Given the description of an element on the screen output the (x, y) to click on. 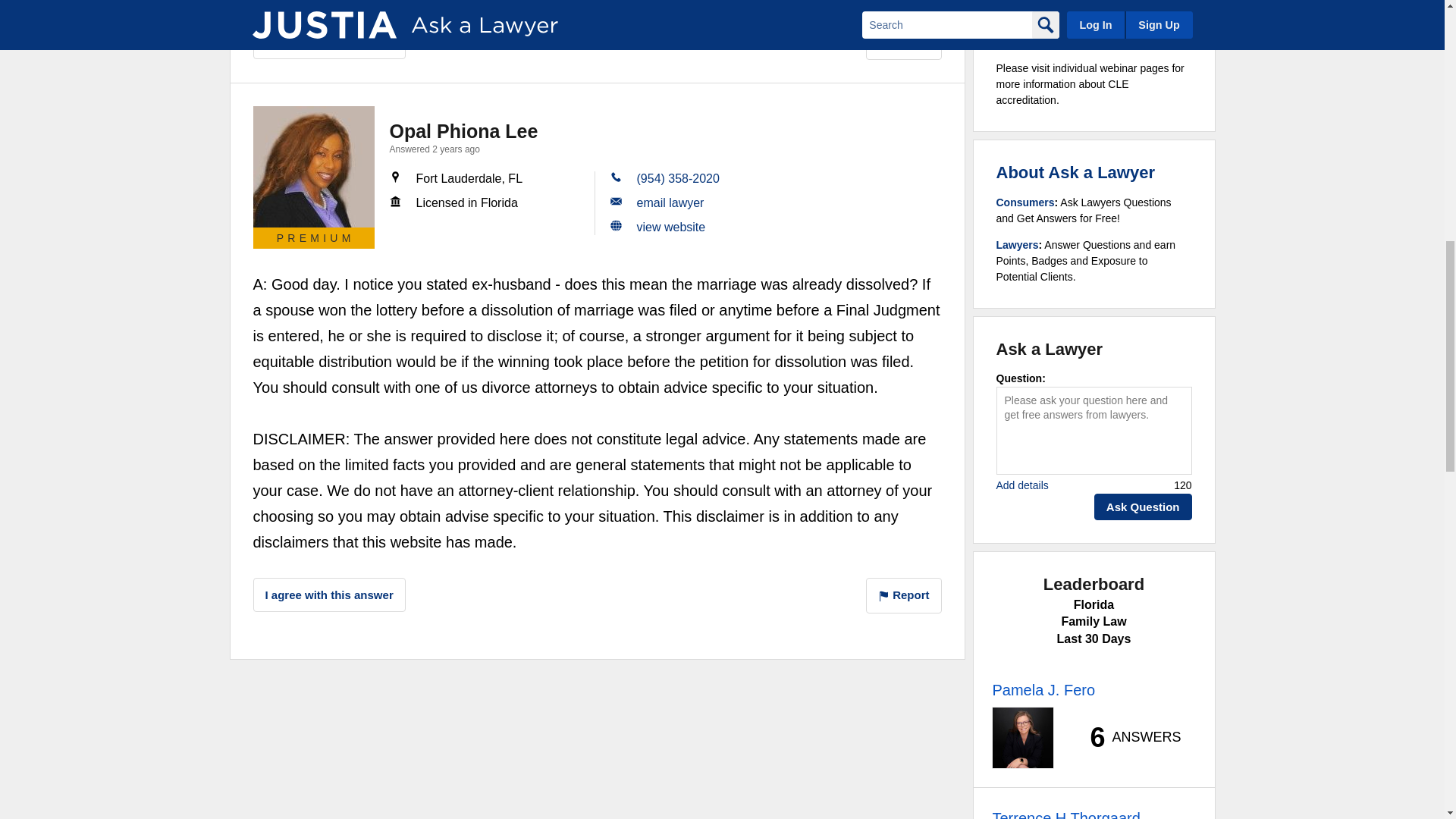
Ask a Lawyer - Leaderboard - Lawyer Name (1042, 689)
Opal Phiona Lee (313, 166)
Ask a Lawyer - FAQs - Lawyers (1017, 244)
Ask a Lawyer - Leaderboard - Lawyer Photo (1021, 737)
Ask a Lawyer - Leaderboard - Lawyer Stats (1127, 737)
Ask a Lawyer - FAQs - Consumers (1024, 202)
Ask a Lawyer - Leaderboard - Lawyer Name (1065, 812)
